Given the description of an element on the screen output the (x, y) to click on. 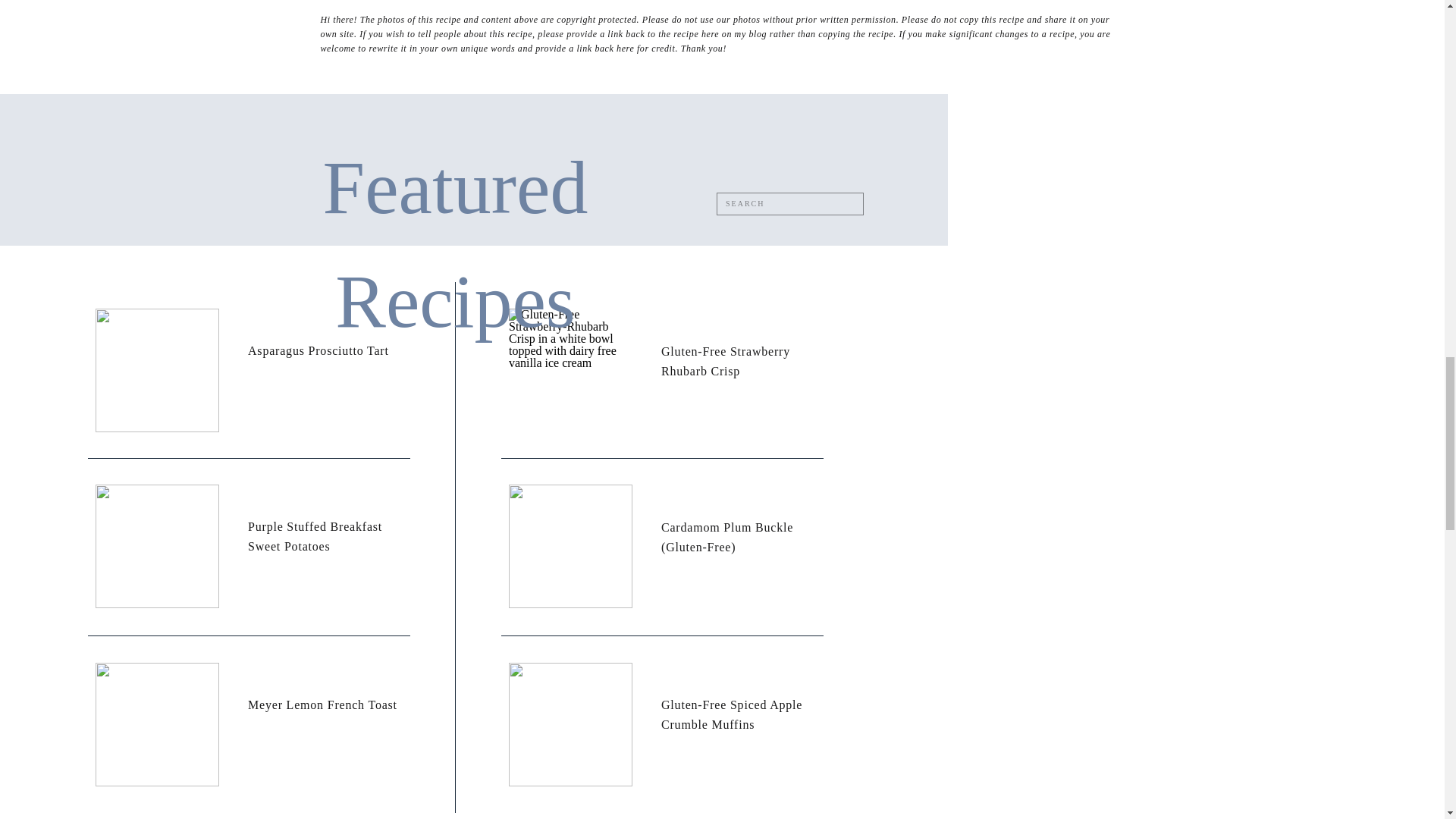
Purple Stuffed Breakfast Sweet Potatoes (157, 546)
Asparagus Prosciutto Tart (157, 370)
Gluten-Free Strawberry Rhubarb Crisp (569, 370)
Gluten-Free Spiced Apple Crumble Muffins (569, 724)
Meyer Lemon French Toast (157, 724)
Post Comment (493, 368)
yes (457, 302)
